Given the description of an element on the screen output the (x, y) to click on. 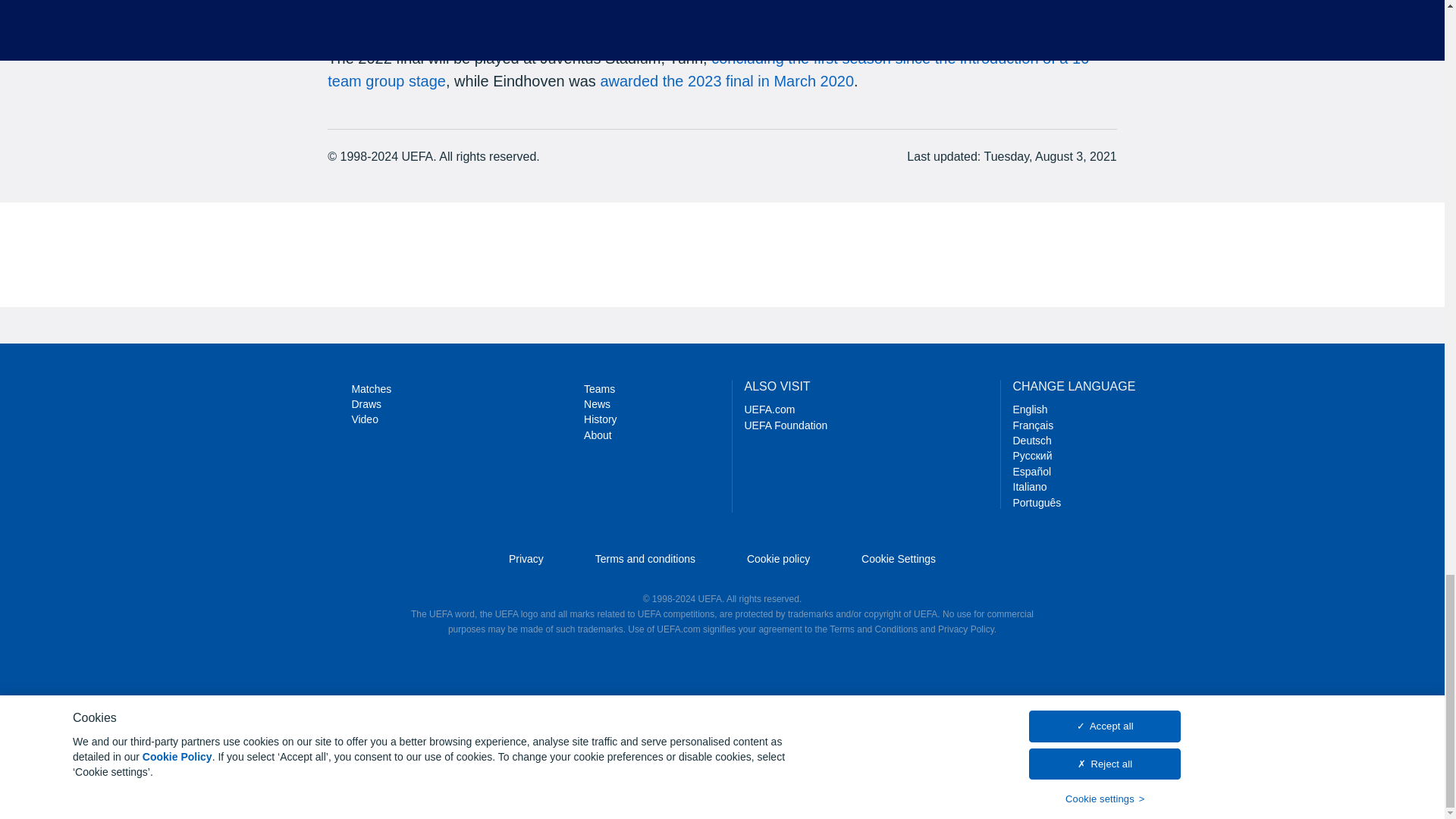
UEFA Foundation (786, 425)
Deutsch (1032, 440)
matches were reallocated to Seville (650, 17)
Cookie policy (777, 558)
Italiano (1029, 486)
Matches (370, 388)
Deutsch (1032, 440)
Privacy (525, 558)
History (600, 419)
Teams (598, 388)
